Given the description of an element on the screen output the (x, y) to click on. 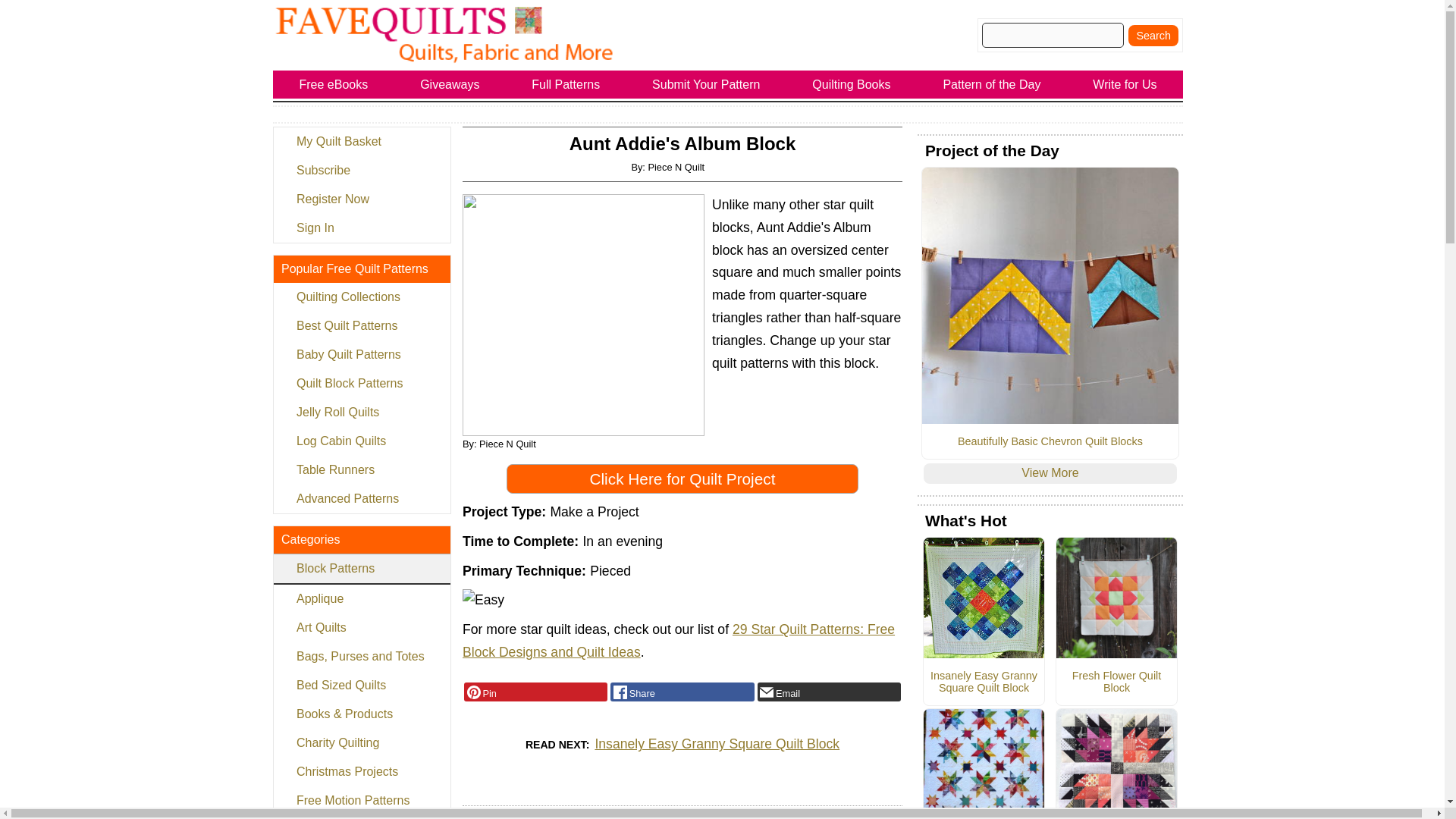
Facebook (682, 691)
Email (829, 691)
Subscribe (361, 170)
Register Now (361, 199)
Sign In (361, 227)
My Quilt Basket (361, 141)
Search (1152, 35)
29 Star Quilt Patterns: Free Block Designs and Quilt Ideas (679, 640)
